Given the description of an element on the screen output the (x, y) to click on. 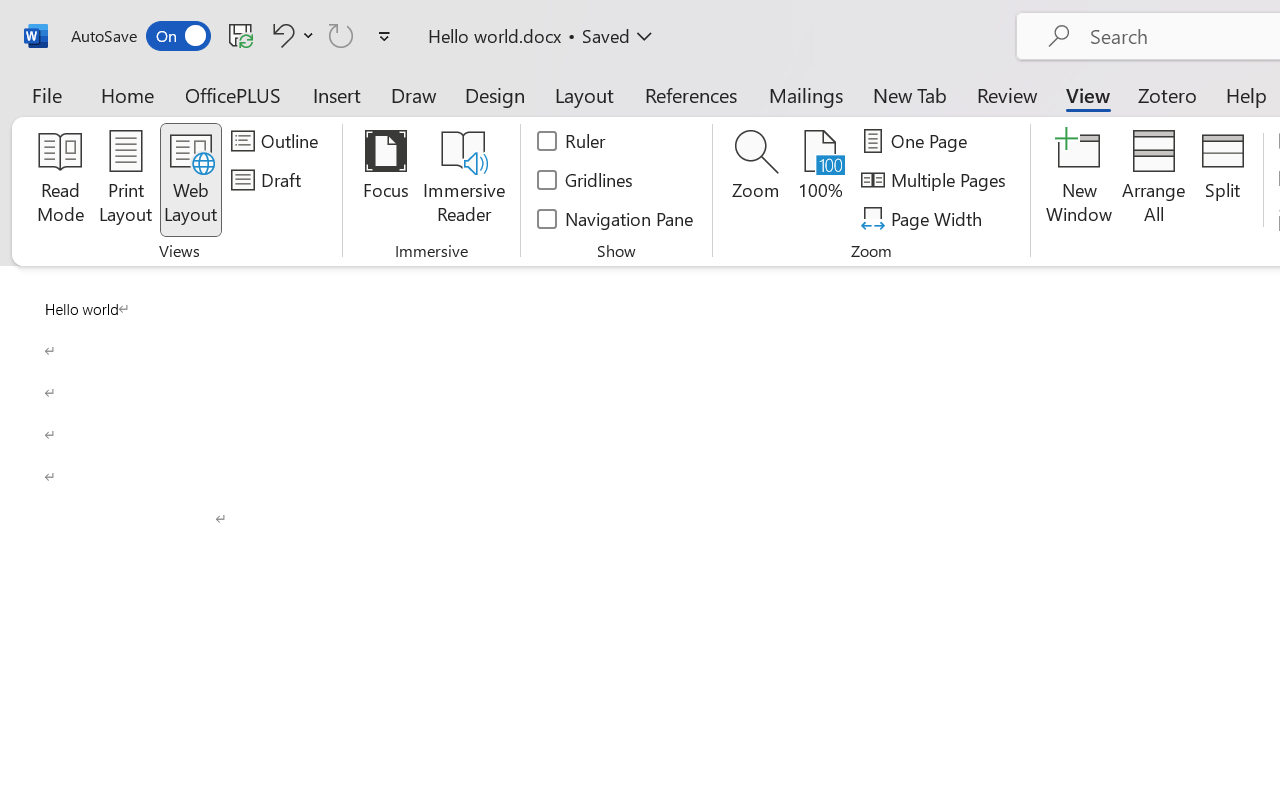
Immersive Reader (464, 179)
OfficePLUS (233, 94)
Outline (278, 141)
Ruler (572, 141)
Navigation Pane (616, 218)
Quick Access Toolbar (233, 36)
Arrange All (1153, 179)
Print Layout (125, 179)
Split (1222, 179)
References (690, 94)
File Tab (46, 94)
Page Width (924, 218)
One Page (917, 141)
Mailings (806, 94)
